Given the description of an element on the screen output the (x, y) to click on. 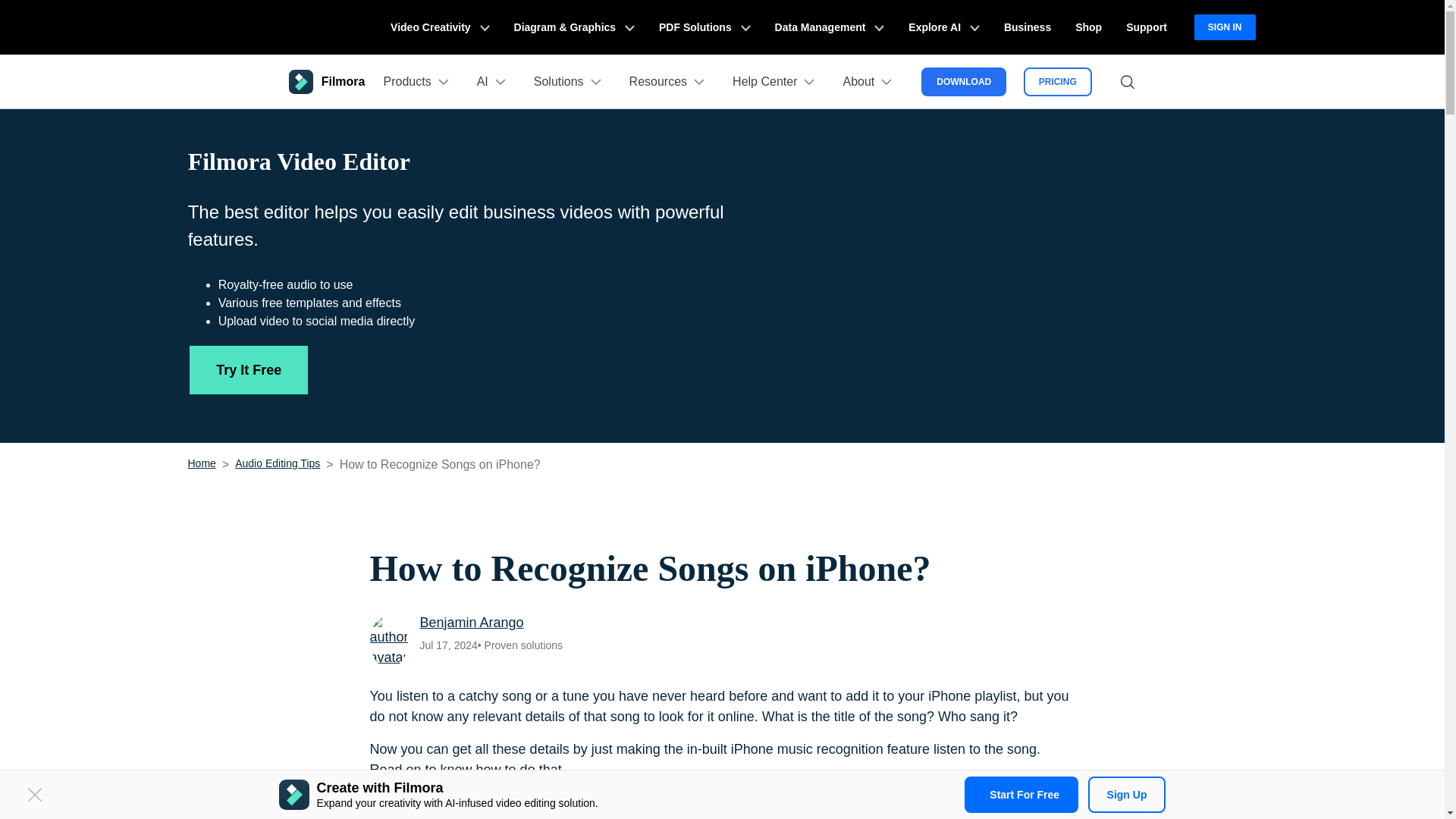
Data Management (829, 27)
Explore AI (943, 27)
PDF Solutions (704, 27)
Video Creativity (439, 27)
